Given the description of an element on the screen output the (x, y) to click on. 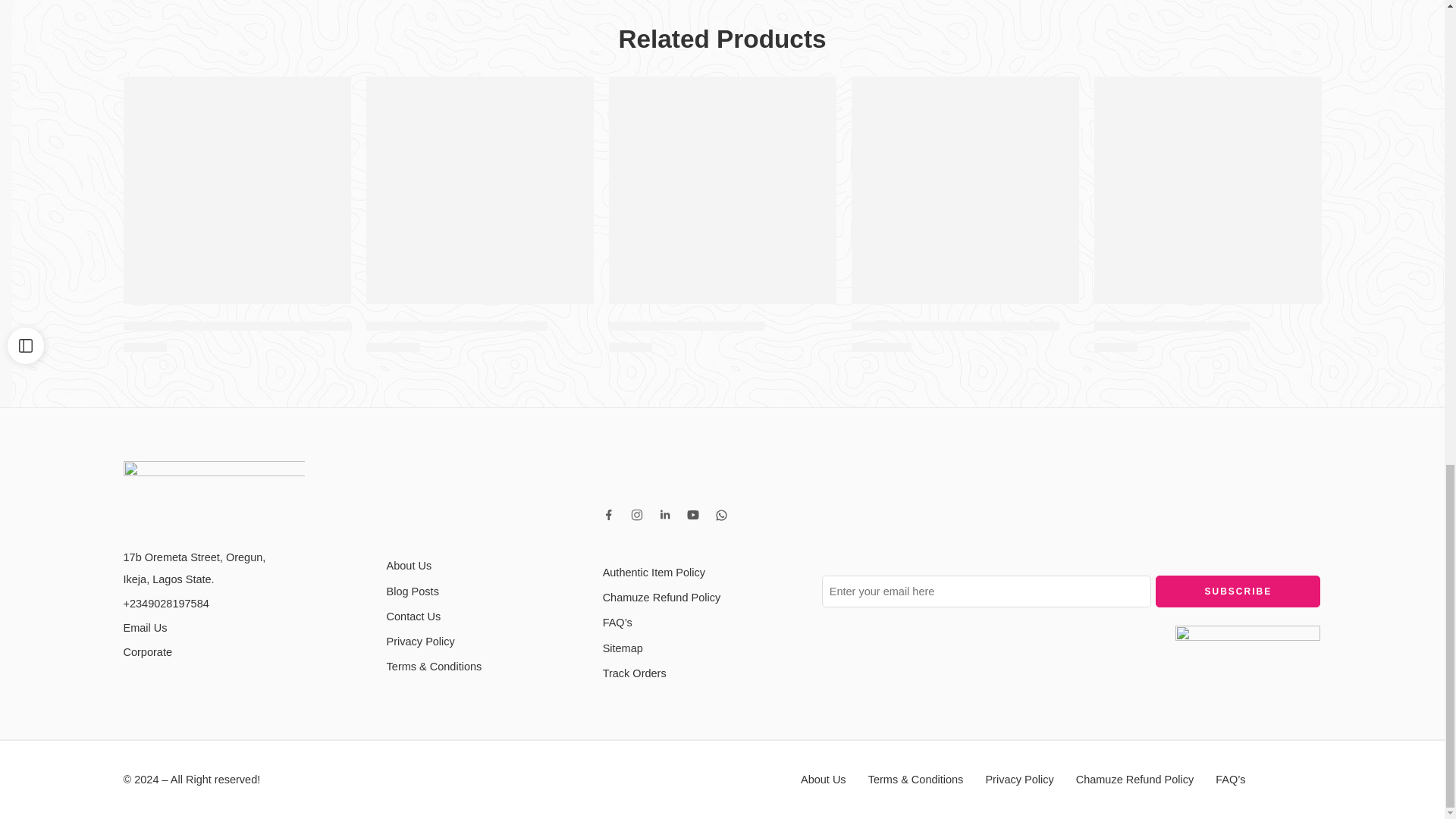
SUBSCRIBE (1238, 591)
